Given the description of an element on the screen output the (x, y) to click on. 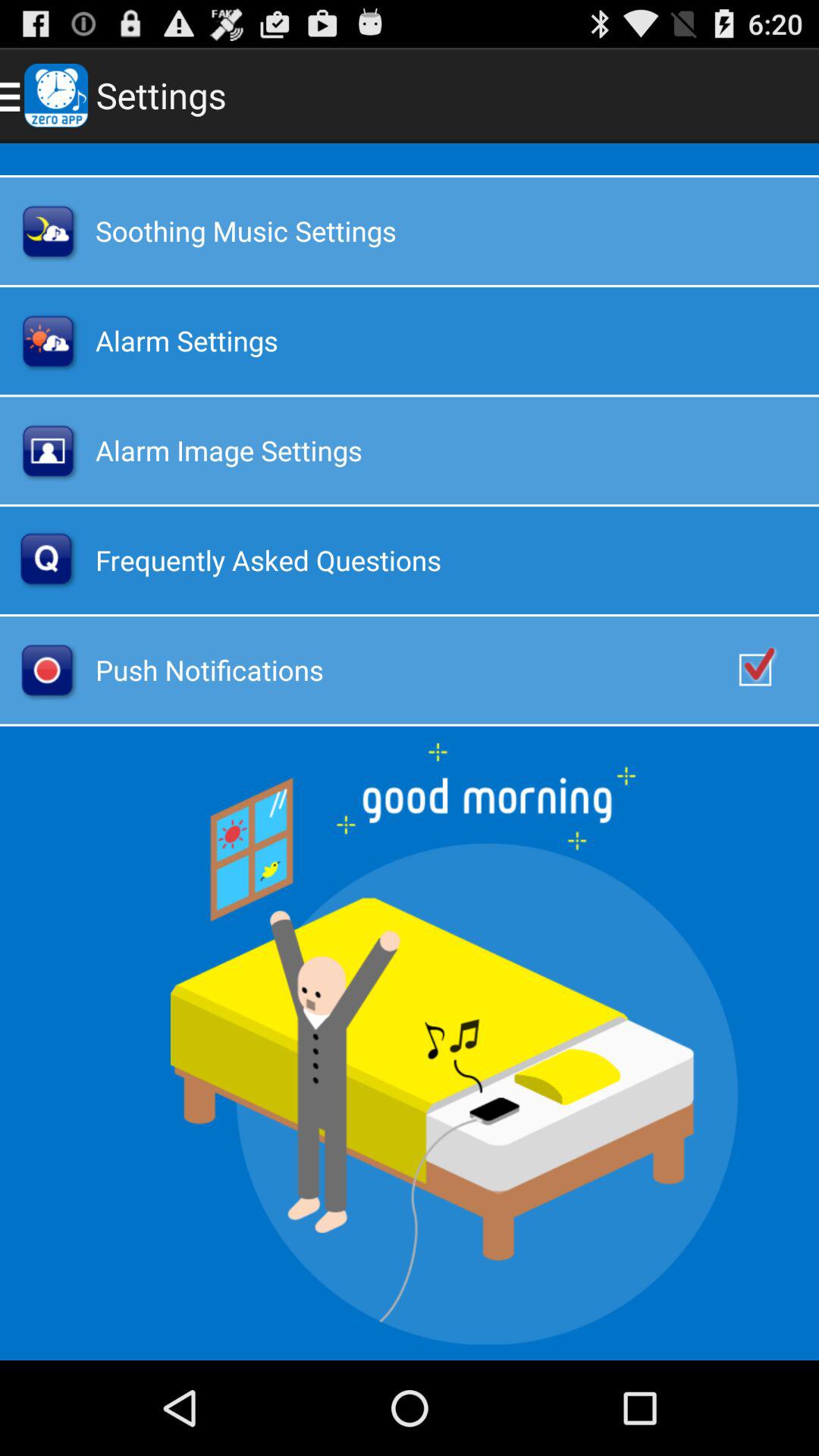
toggle push notifications (771, 670)
